Given the description of an element on the screen output the (x, y) to click on. 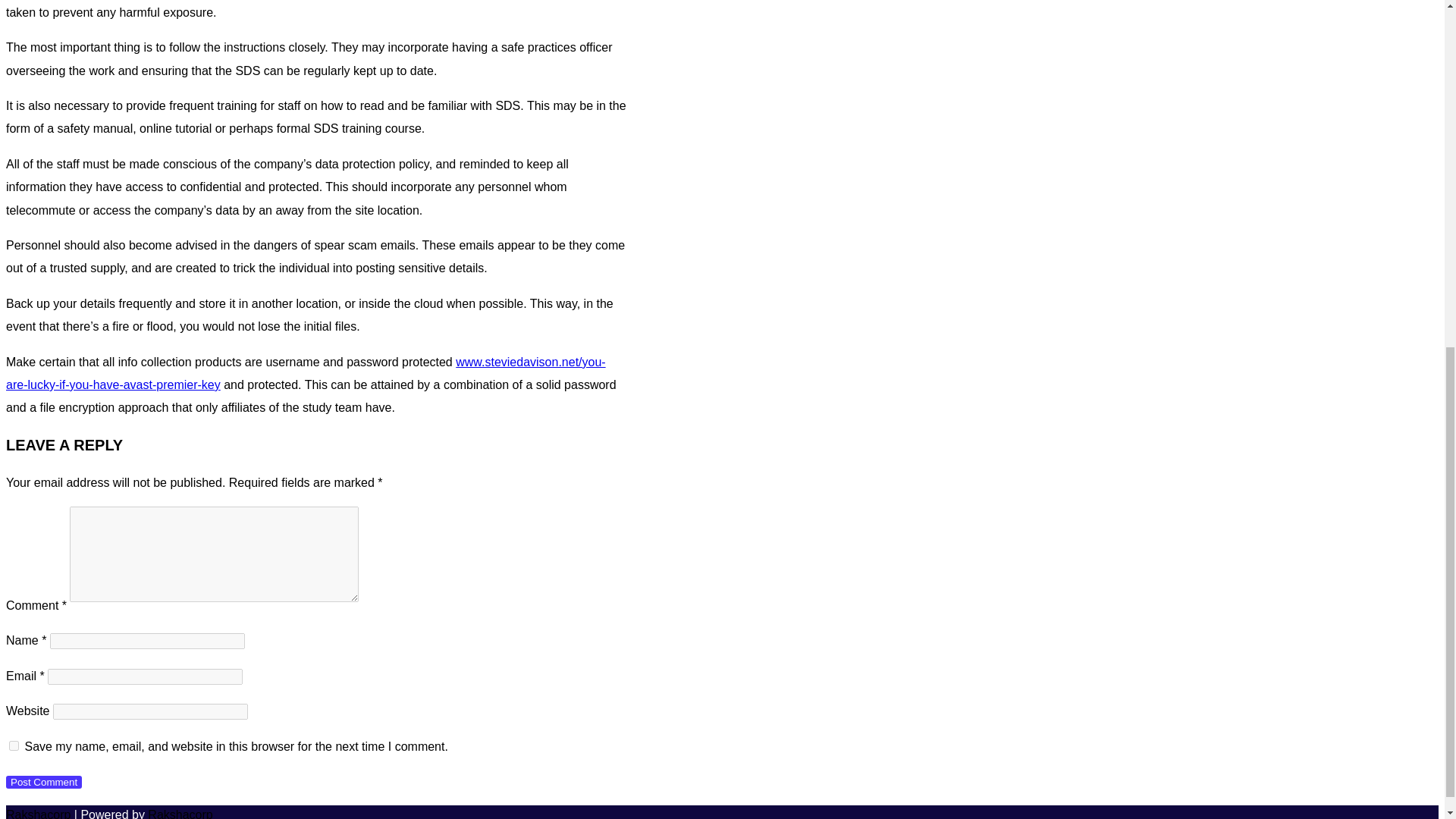
Post Comment (43, 781)
Post Comment (43, 781)
yes (13, 746)
